Given the description of an element on the screen output the (x, y) to click on. 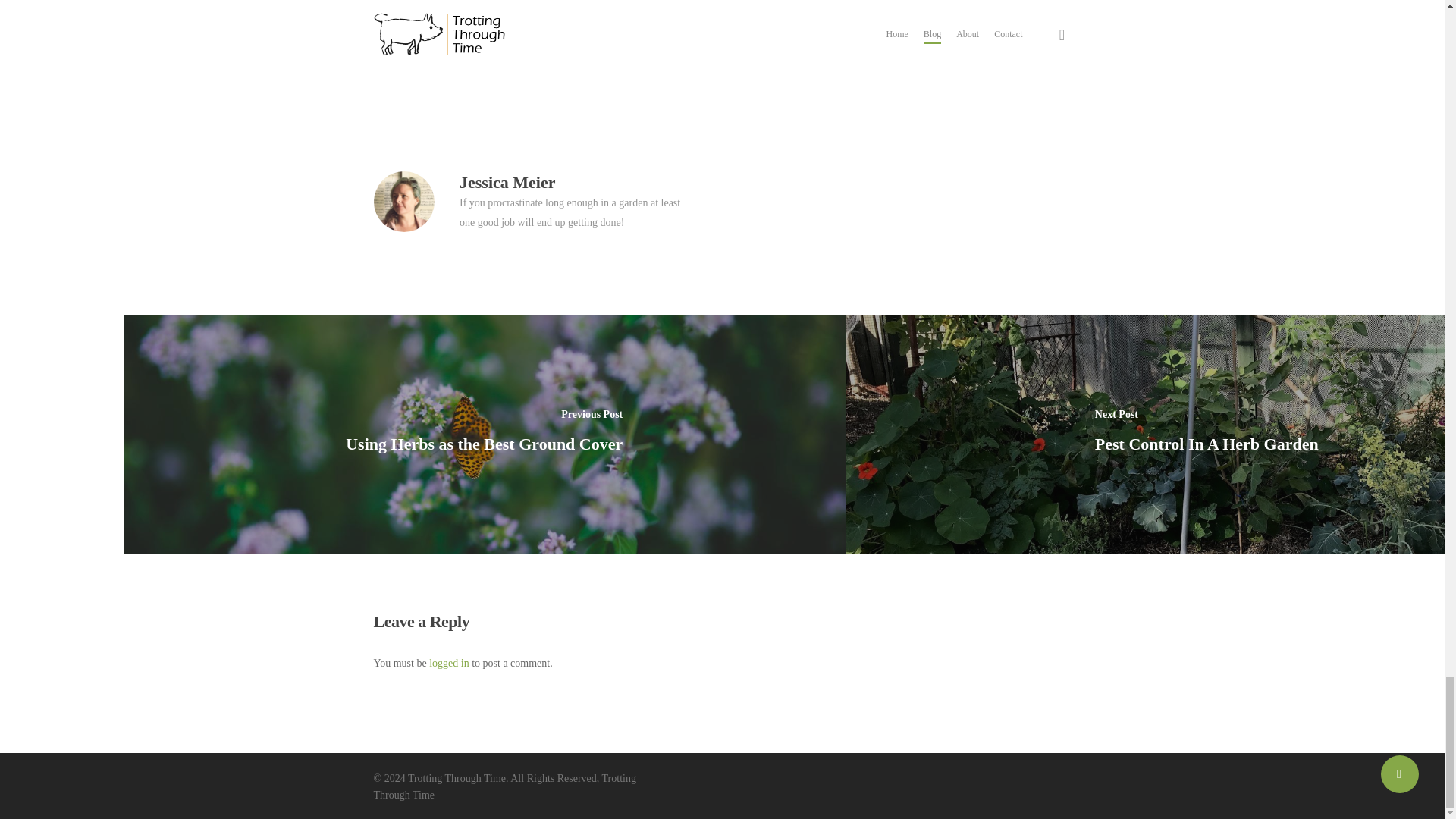
Jessica Meier (507, 181)
logged in (448, 663)
the best pole saws (425, 21)
